Given the description of an element on the screen output the (x, y) to click on. 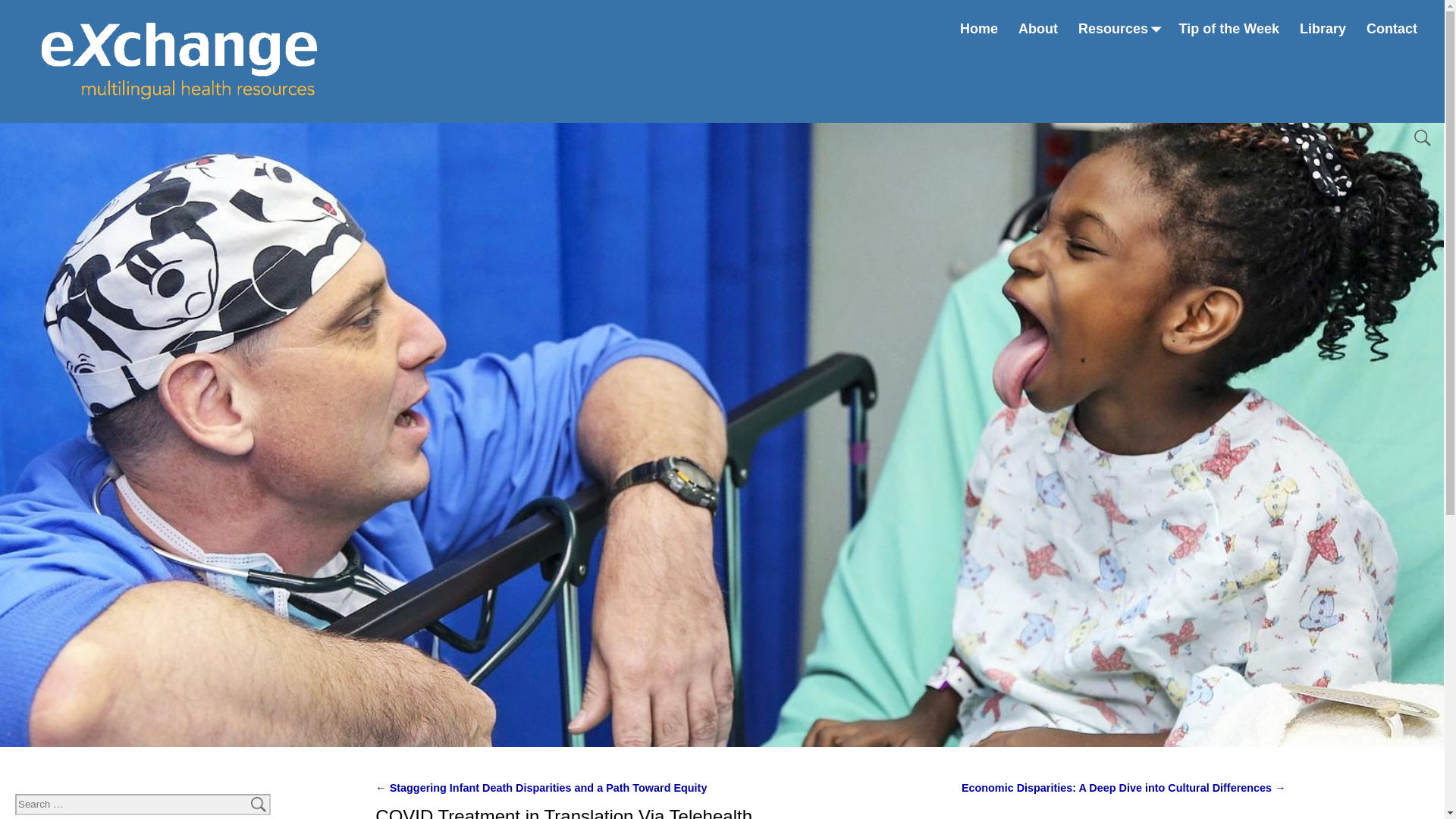
Home (979, 28)
Resources (1118, 28)
Library (1321, 28)
Contact (1390, 28)
Search for: (142, 803)
Search (21, 7)
Tip of the Week (1228, 28)
About (1038, 28)
